Given the description of an element on the screen output the (x, y) to click on. 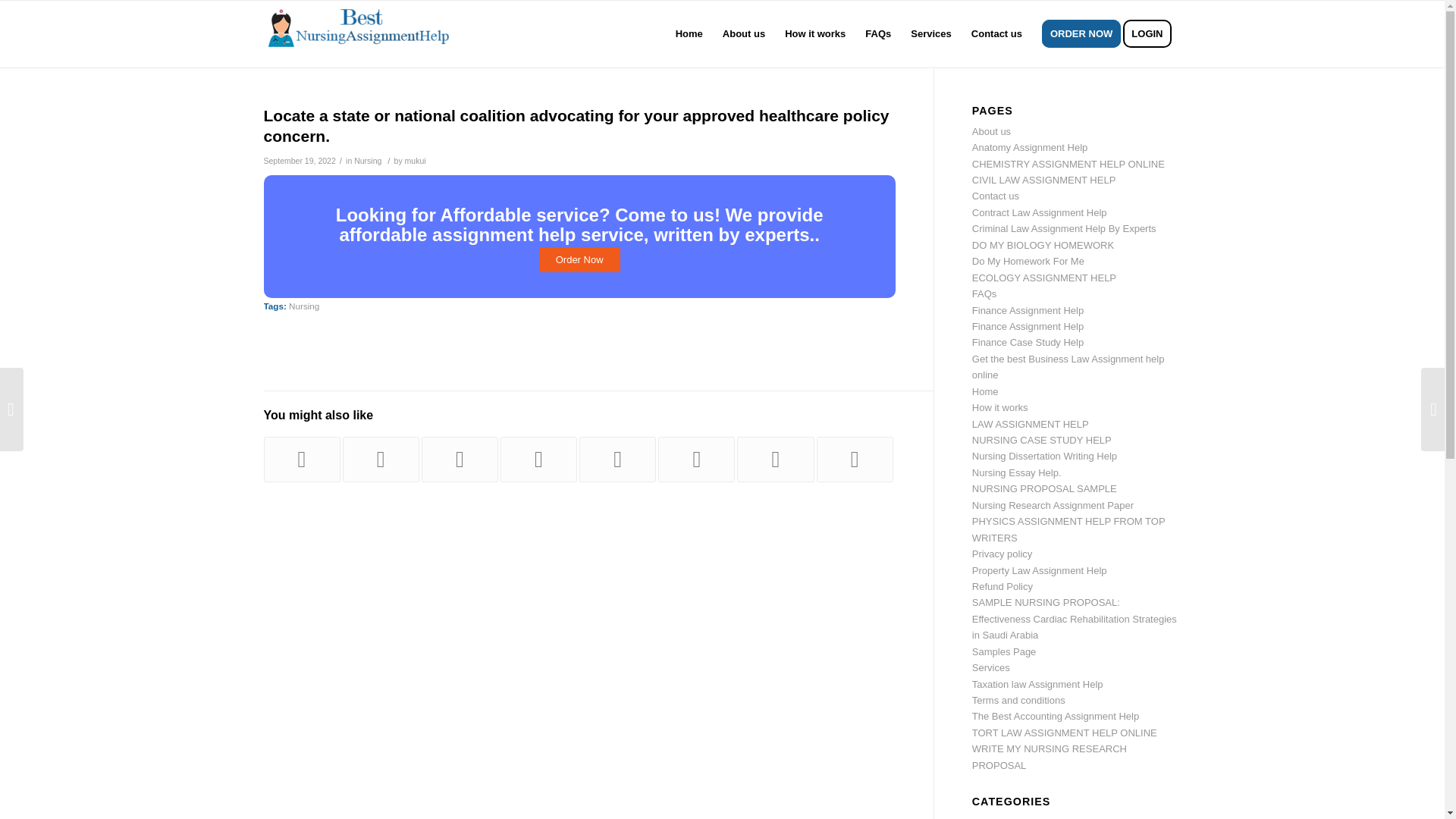
Finance Case Study Help (1027, 342)
Contact us (995, 195)
Do My Homework For Me (1028, 260)
Finance Assignment Help (1027, 310)
CHEMISTRY ASSIGNMENT HELP ONLINE (1068, 163)
DO MY BIOLOGY HOMEWORK (1042, 244)
About us (743, 33)
Order Now (579, 259)
